Given the description of an element on the screen output the (x, y) to click on. 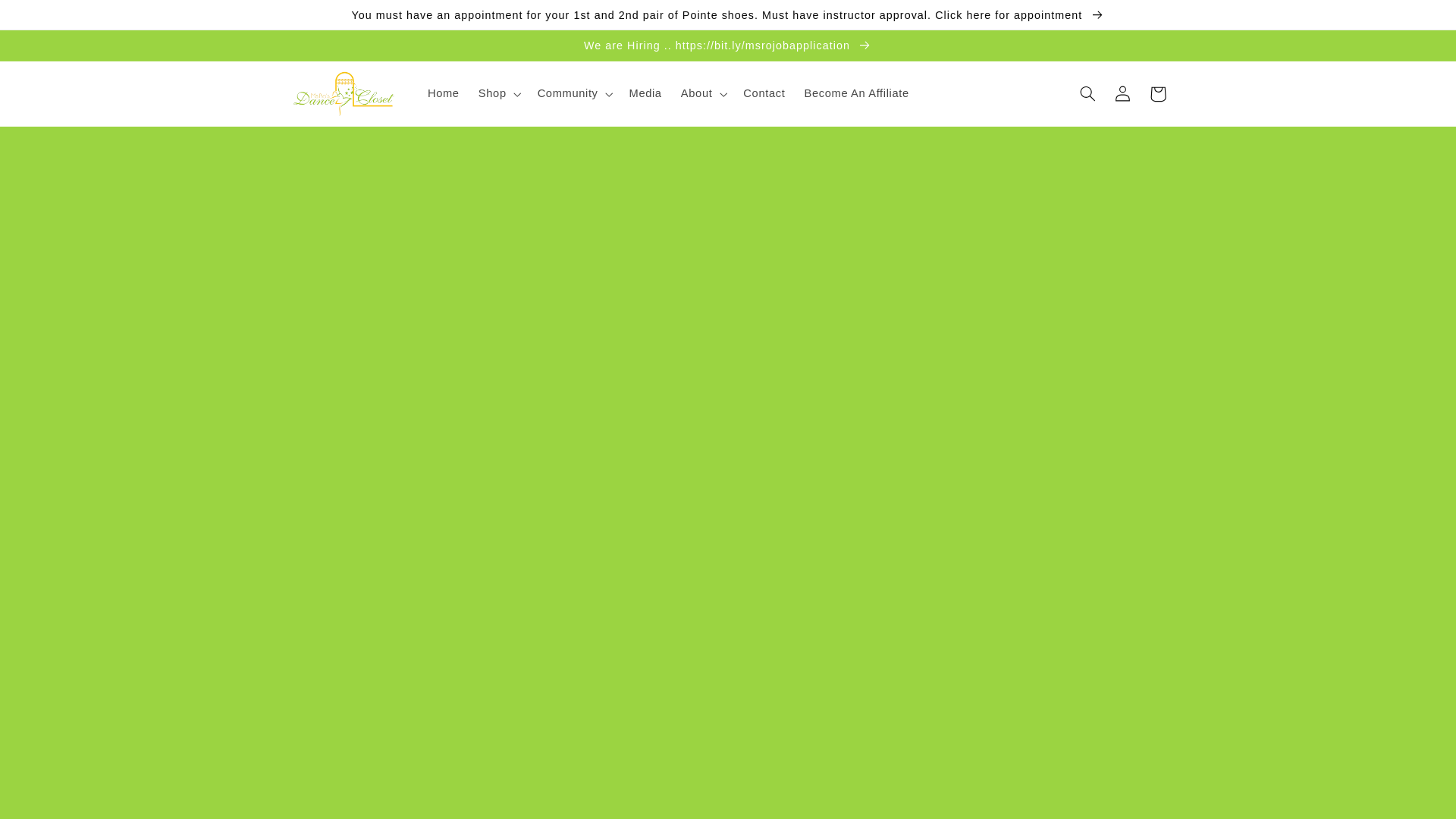
Skip to content (48, 18)
